Given the description of an element on the screen output the (x, y) to click on. 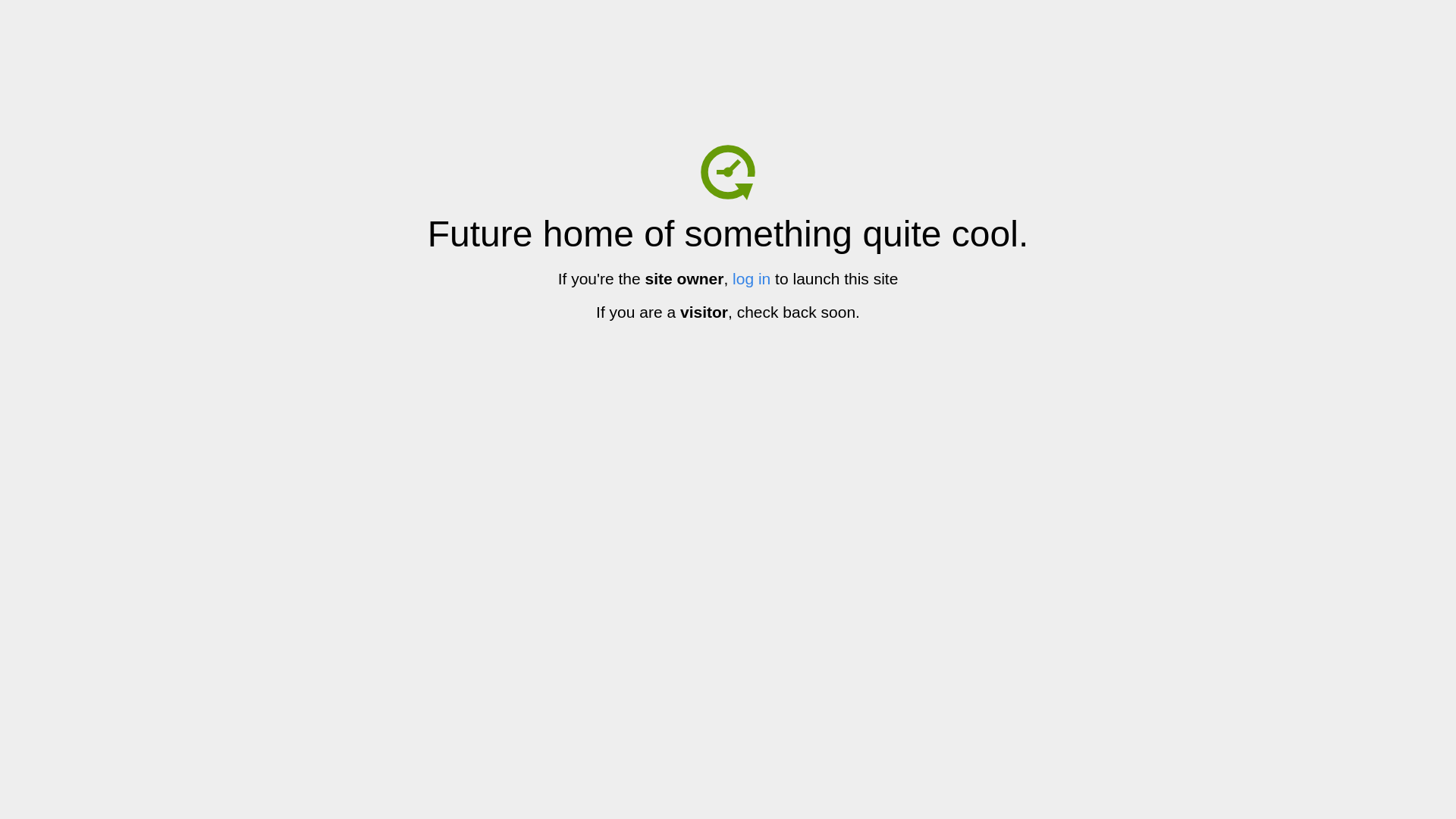
log in Element type: text (751, 278)
